Given the description of an element on the screen output the (x, y) to click on. 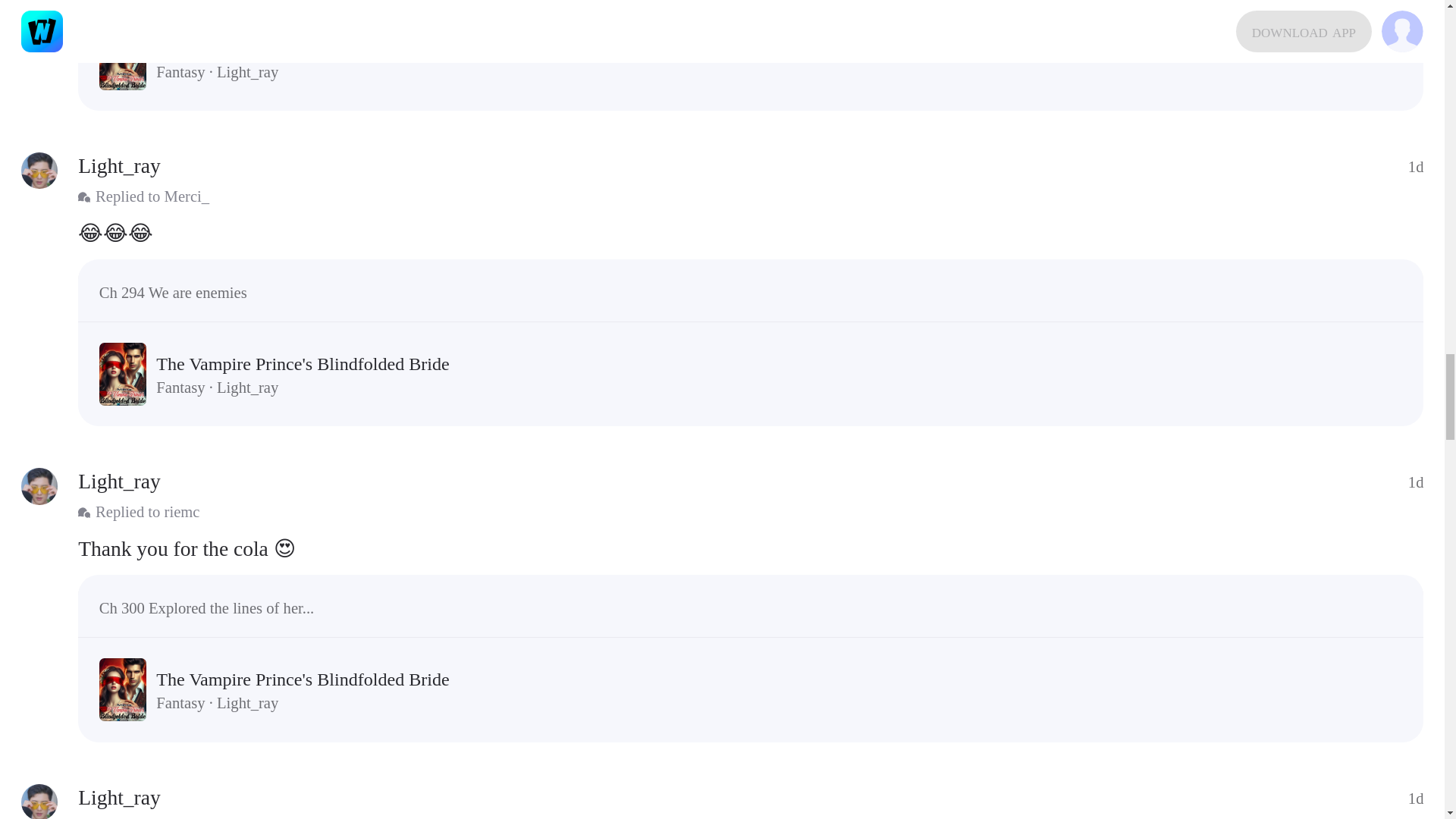
reply (750, 232)
